Given the description of an element on the screen output the (x, y) to click on. 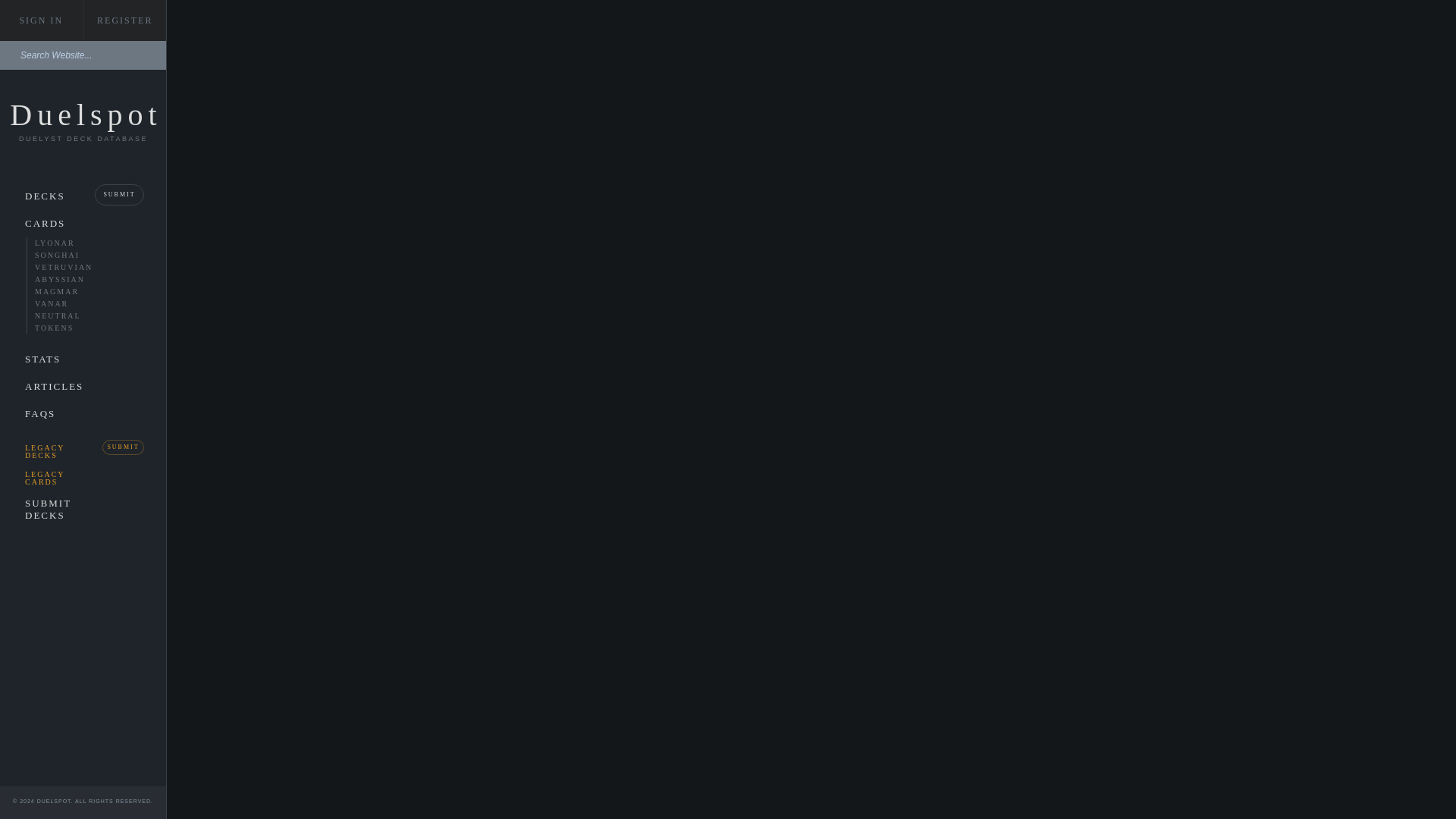
STATS (82, 359)
VETRUVIAN (67, 266)
TOKENS (67, 327)
SUBMIT (119, 193)
LYONAR (67, 242)
DECKS (47, 195)
MAGMAR (67, 291)
LEGACY DECKS (47, 449)
ARTICLES (47, 386)
SONGHAI (67, 254)
NEUTRAL (67, 315)
CARDS (82, 222)
SIGN IN (41, 20)
SUBMIT DECKS (47, 509)
VANAR (67, 303)
